Given the description of an element on the screen output the (x, y) to click on. 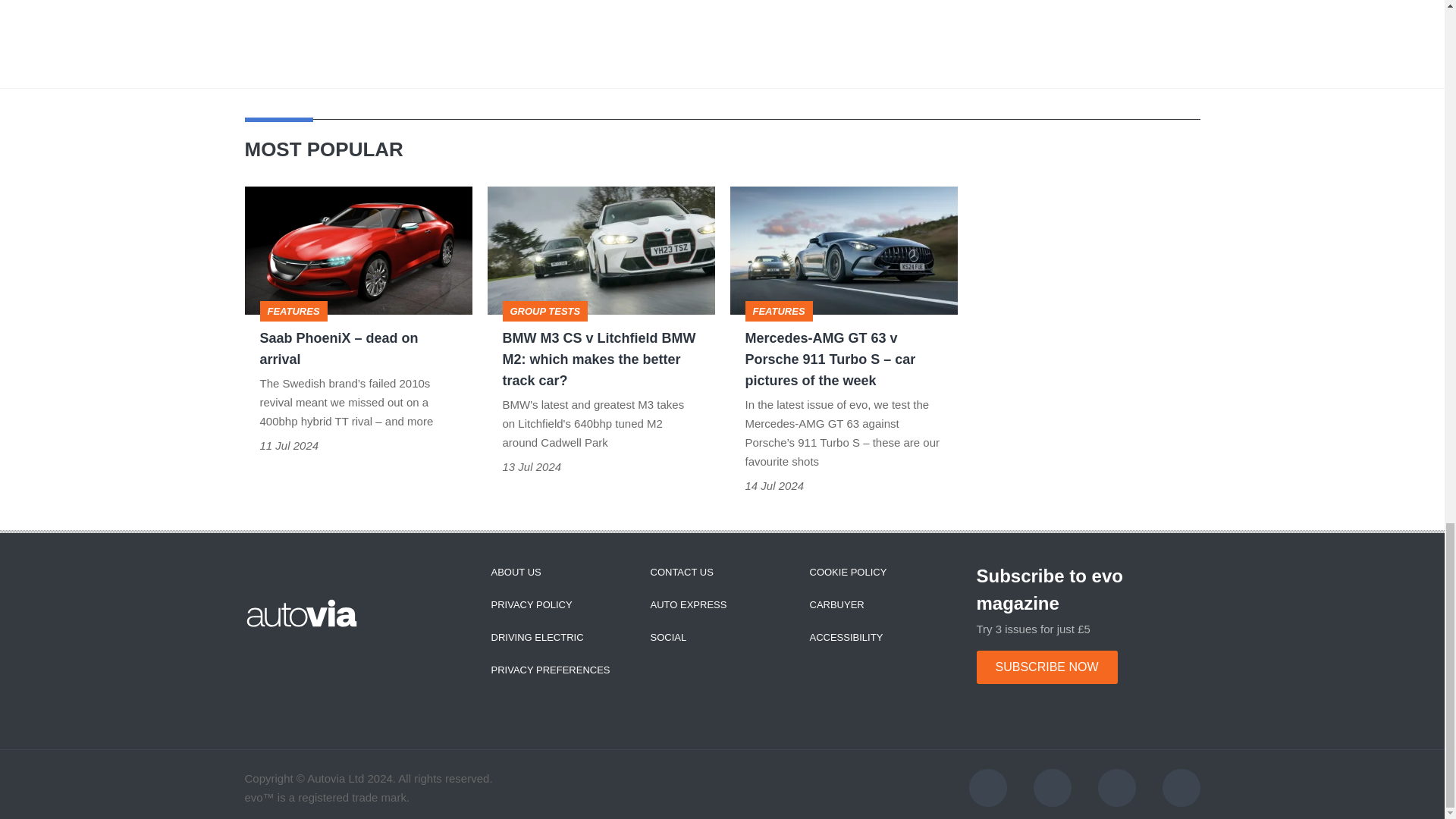
PRIVACY POLICY (532, 604)
CONTACT US (681, 572)
Subscribe now (1047, 666)
COOKIE POLICY (847, 572)
ABOUT US (516, 572)
